Given the description of an element on the screen output the (x, y) to click on. 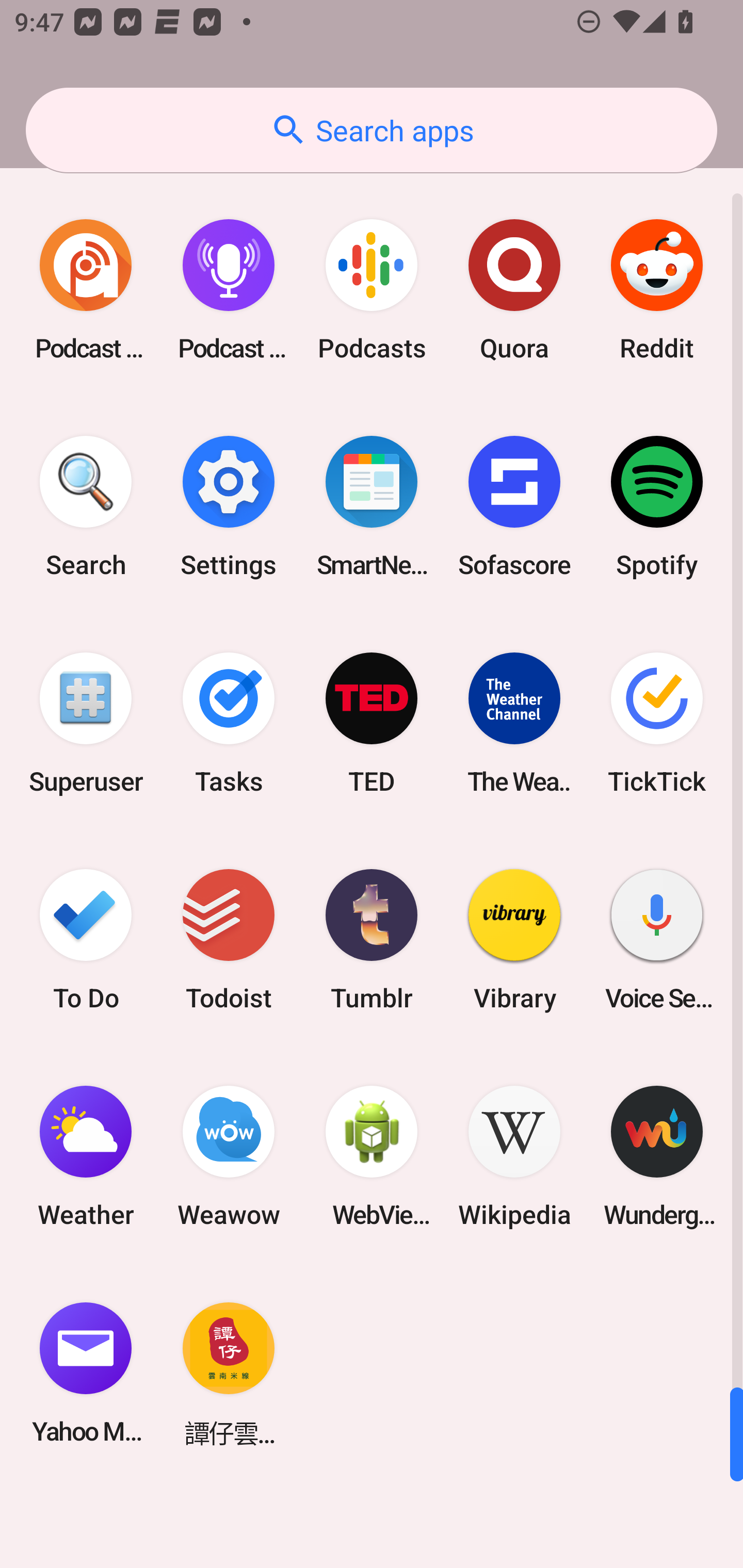
  Search apps (371, 130)
Podcast Addict (85, 289)
Podcast Player (228, 289)
Podcasts (371, 289)
Quora (514, 289)
Reddit (656, 289)
Search (85, 506)
Settings (228, 506)
SmartNews (371, 506)
Sofascore (514, 506)
Spotify (656, 506)
Superuser (85, 722)
Tasks (228, 722)
TED (371, 722)
The Weather Channel (514, 722)
TickTick (656, 722)
To Do (85, 939)
Todoist (228, 939)
Tumblr (371, 939)
Vibrary (514, 939)
Voice Search (656, 939)
Weather (85, 1156)
Weawow (228, 1156)
WebView Browser Tester (371, 1156)
Wikipedia (514, 1156)
Wunderground (656, 1156)
Yahoo Mail (85, 1373)
譚仔雲南米線 (228, 1373)
